Given the description of an element on the screen output the (x, y) to click on. 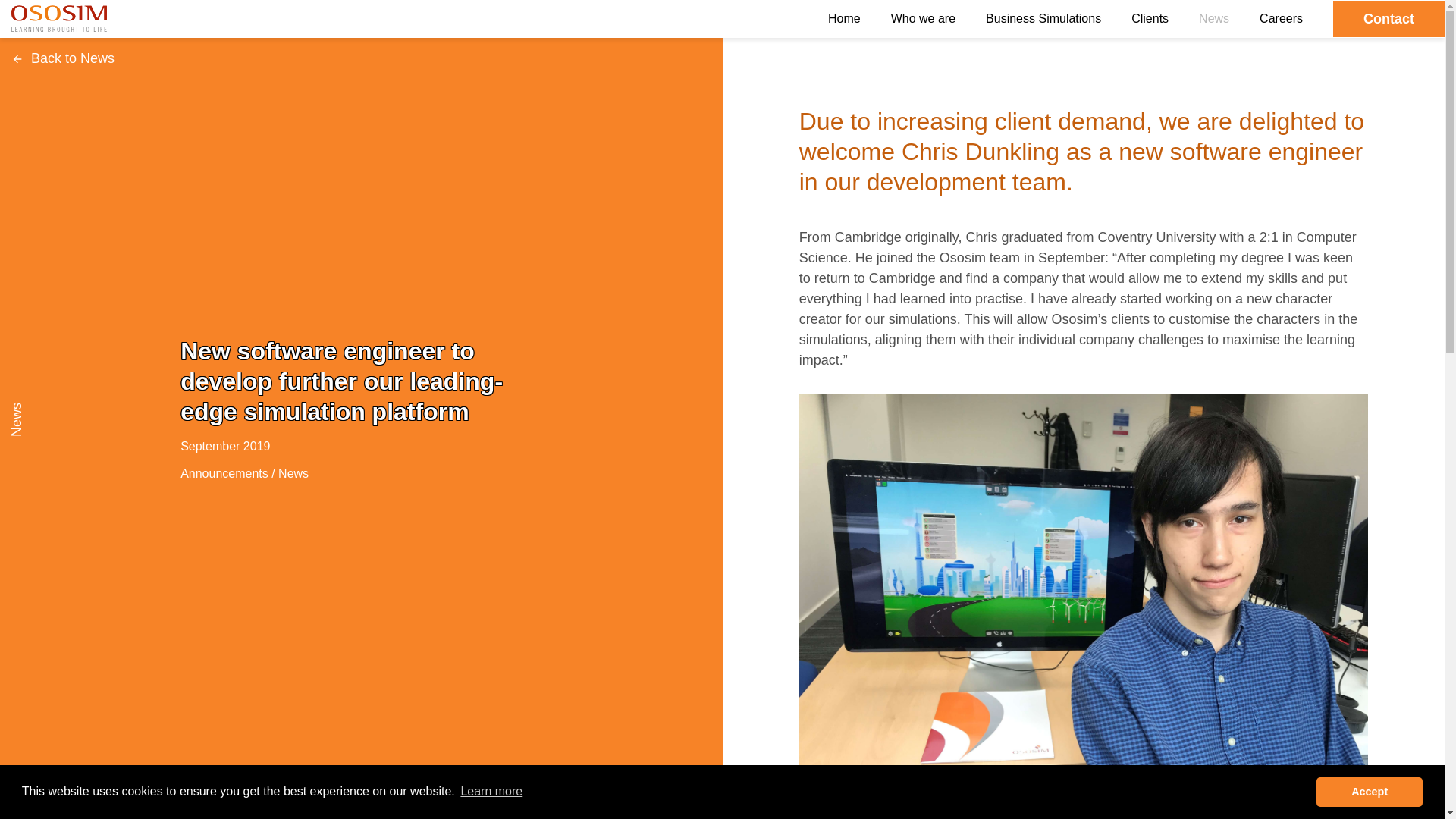
Announcements (223, 472)
Business Simulations (1042, 18)
OSOSIM (58, 17)
Back to News (63, 58)
News (1213, 18)
Careers (1281, 18)
Learn more (491, 791)
News (293, 472)
Home (844, 18)
